Given the description of an element on the screen output the (x, y) to click on. 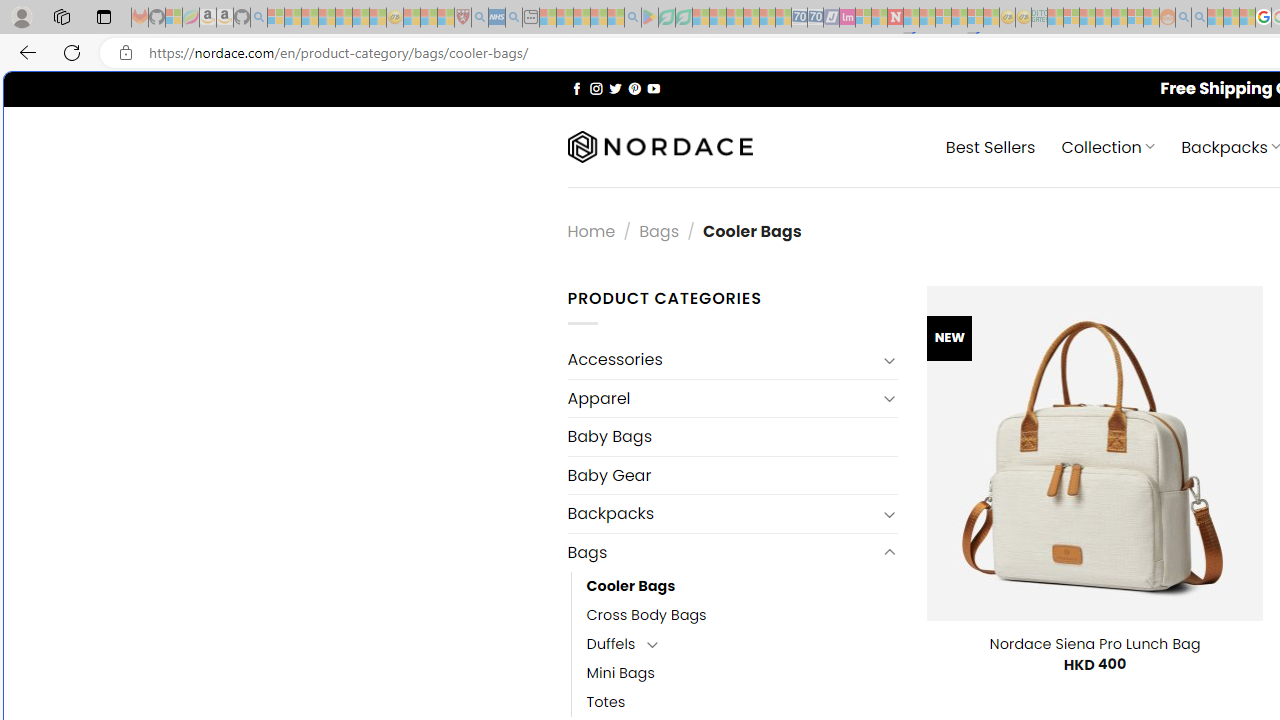
Baby Gear (732, 475)
Apparel (721, 398)
Jobs - lastminute.com Investor Portal - Sleeping (847, 17)
Cheap Car Rentals - Save70.com - Sleeping (799, 17)
Mini Bags (620, 673)
Local - MSN - Sleeping (445, 17)
Cross Body Bags (646, 614)
